Given the description of an element on the screen output the (x, y) to click on. 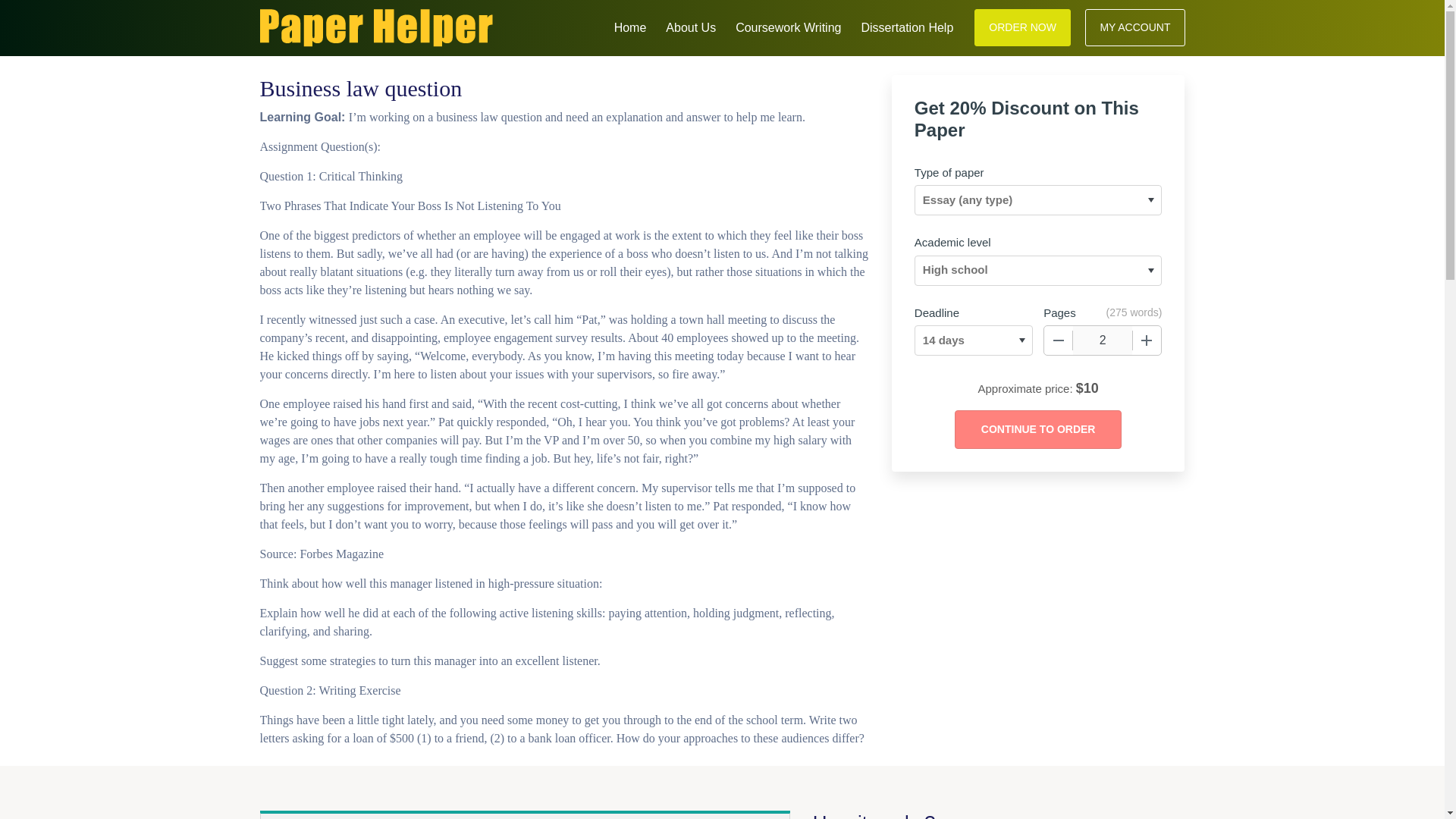
2 (1102, 339)
About Us (690, 25)
Coursework Writing (788, 25)
Decrease (1058, 339)
Continue to order (1038, 429)
Increase (1146, 339)
Home (630, 25)
Dissertation Help (906, 25)
Dissertation Help (906, 25)
About Us (690, 25)
Coursework Writing (788, 25)
ORDER NOW (1022, 27)
Continue to order (1038, 429)
Home (630, 25)
MY ACCOUNT (1134, 27)
